Given the description of an element on the screen output the (x, y) to click on. 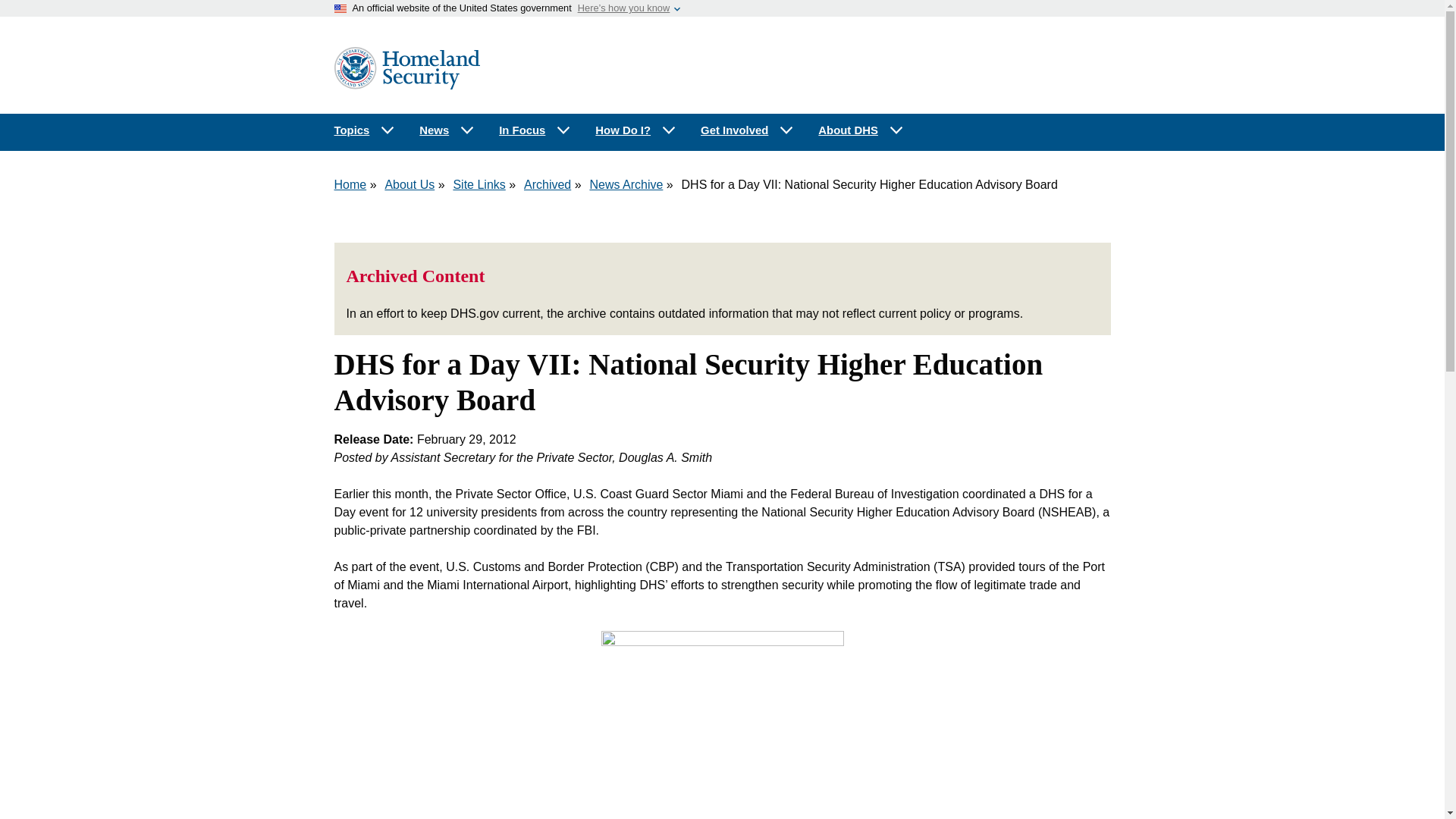
News Archive (625, 184)
About DHS (860, 130)
In Focus (534, 130)
How Do I? (635, 130)
Site Links (478, 184)
About Us (408, 184)
Home (349, 184)
Topics (364, 130)
Archived (547, 184)
